Given the description of an element on the screen output the (x, y) to click on. 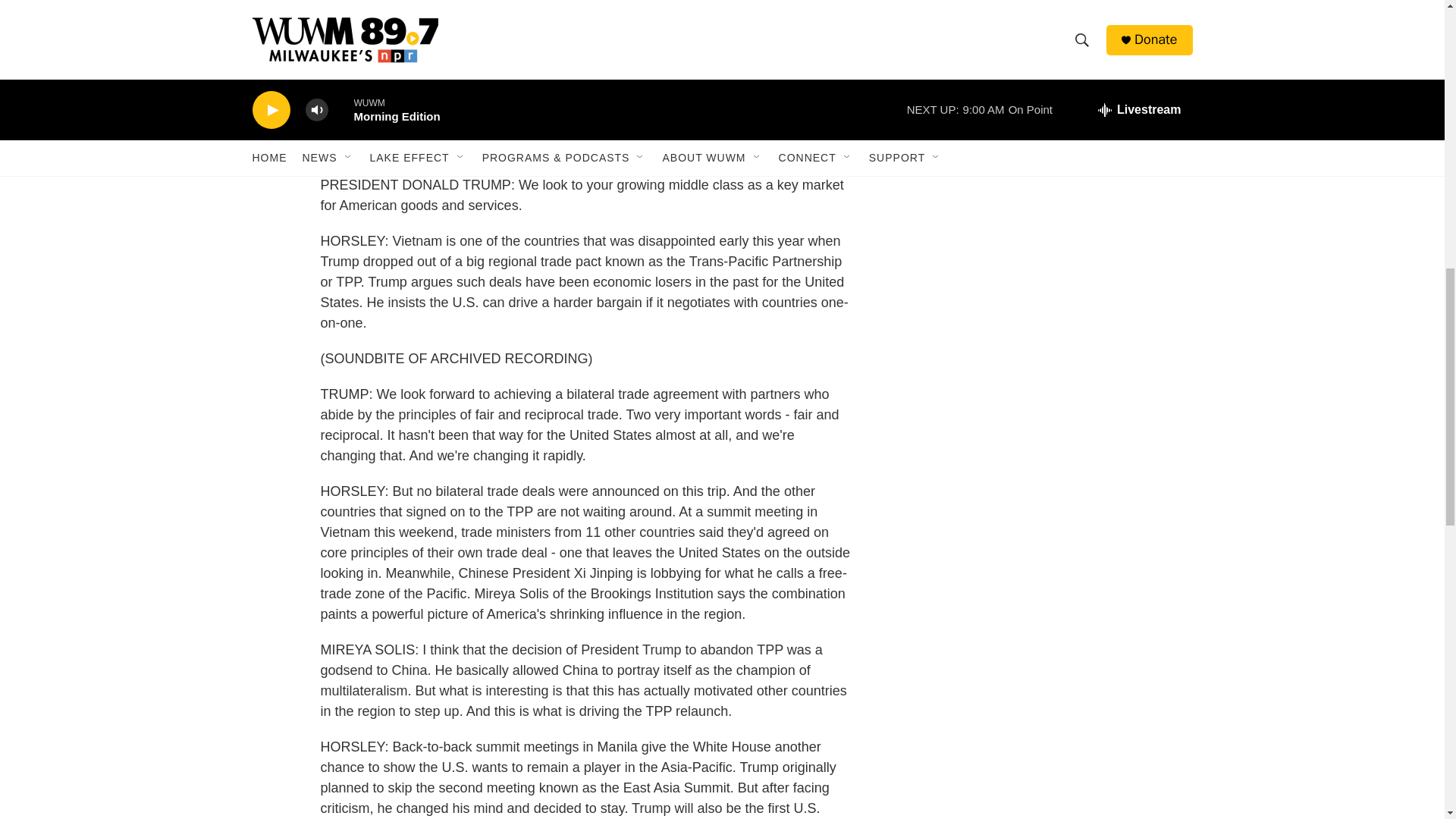
3rd party ad content (1062, 80)
